Given the description of an element on the screen output the (x, y) to click on. 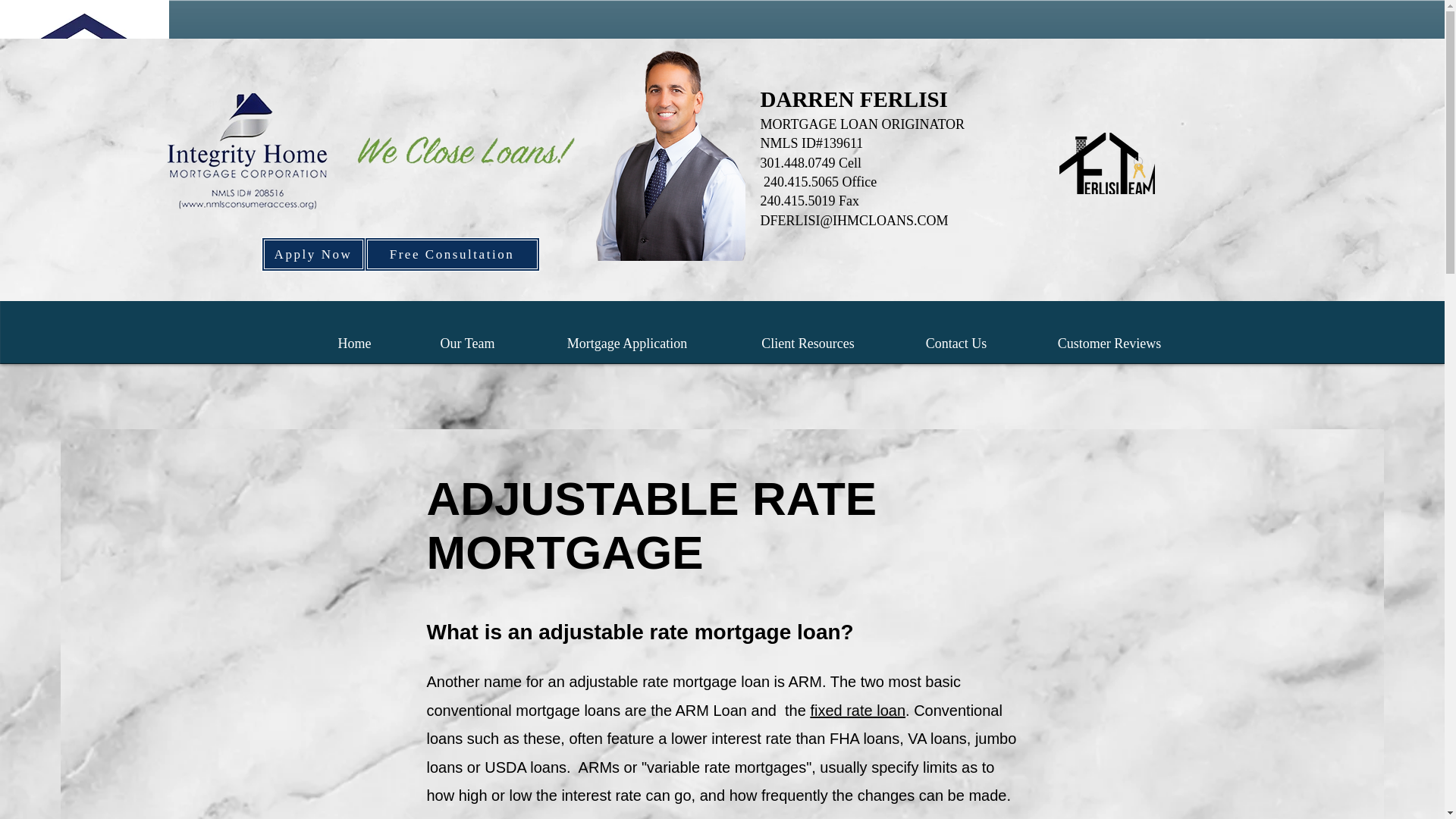
Contact Us (956, 336)
Apply Now (312, 254)
Client Resources (808, 336)
Asset 2.png (1106, 163)
Home (353, 336)
Mortgage Application (626, 336)
fixed rate loan (857, 710)
Customer Reviews (1108, 336)
Our Team (466, 336)
Free Consultation (451, 254)
